Given the description of an element on the screen output the (x, y) to click on. 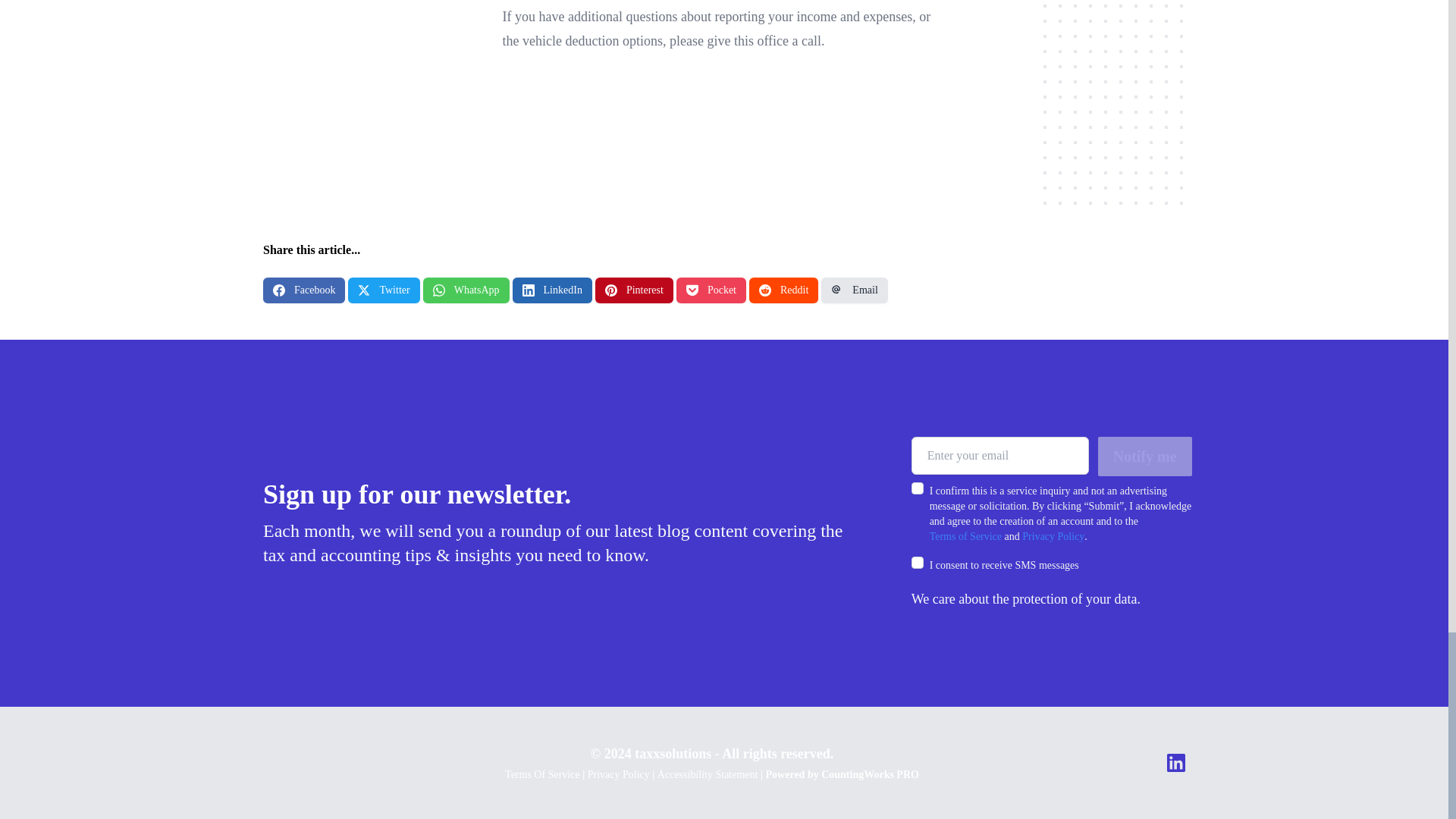
Pinterest (633, 290)
Notify me (1144, 455)
Pocket (711, 290)
Email (853, 290)
Facebook (304, 290)
on (917, 562)
Twitter (383, 290)
on (917, 488)
LinkedIn (552, 290)
Terms of Service (965, 536)
Powered by CountingWorks PRO (841, 774)
WhatsApp (466, 290)
Reddit (783, 290)
Accessibility Statement (708, 774)
Privacy Policy (1053, 536)
